Given the description of an element on the screen output the (x, y) to click on. 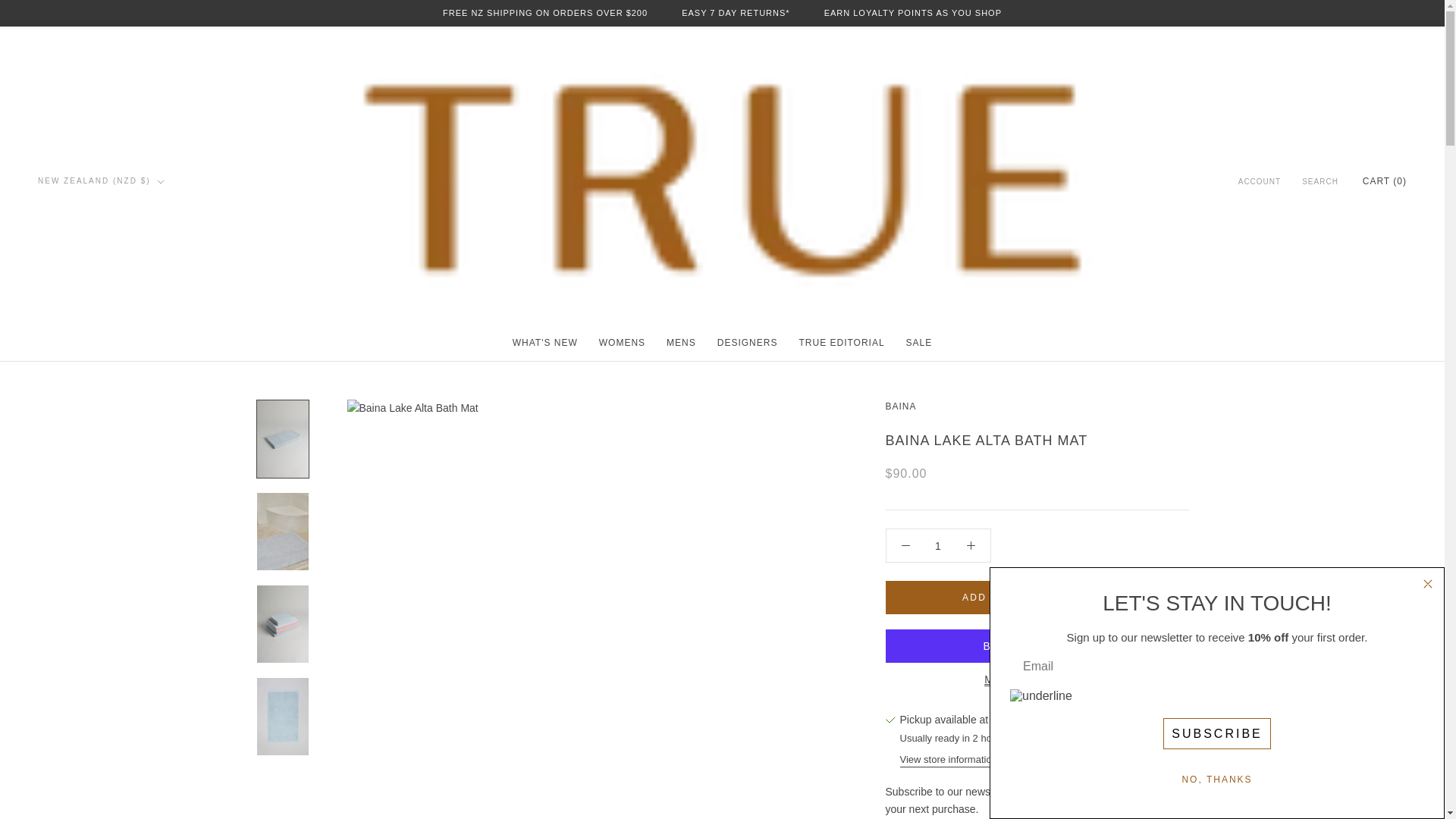
1 (938, 545)
Shopify online store chat (1404, 781)
